Given the description of an element on the screen output the (x, y) to click on. 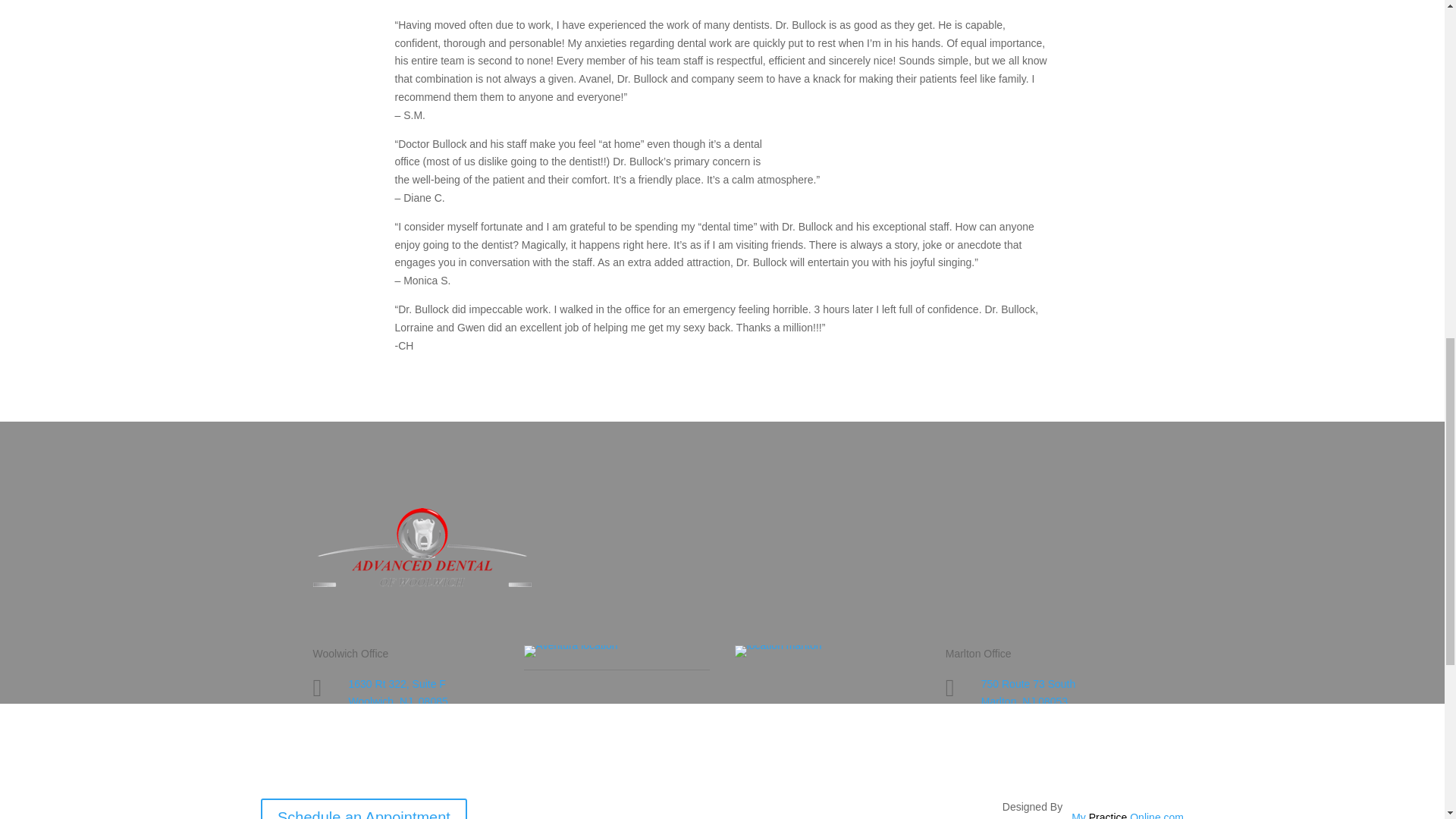
woolwich-dental-office-location-map (570, 651)
marlton-dentist-logo (422, 547)
marlton-dentist-location-map (778, 651)
